Given the description of an element on the screen output the (x, y) to click on. 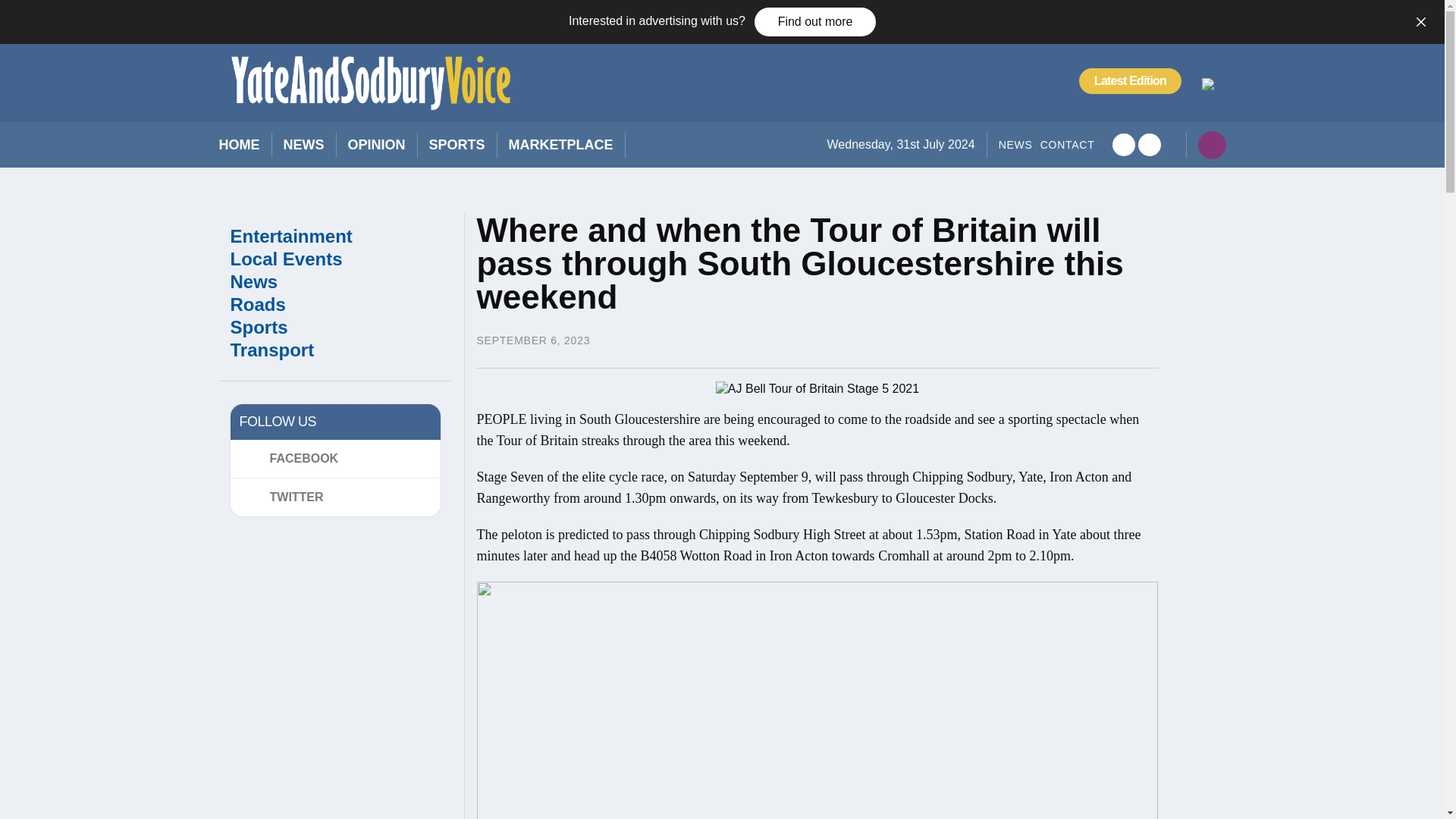
HOME (238, 144)
Sports (335, 327)
CONTACT (1067, 145)
NEWS (1015, 145)
Roads (335, 304)
TWITTER (334, 497)
Yate and Sodbury Voice Facebook (1123, 144)
MARKETPLACE (560, 144)
OPINION (375, 144)
Transport (335, 350)
FACEBOOK (334, 458)
Entertainment (335, 236)
News (335, 282)
NEWS (303, 144)
Search (1027, 205)
